Given the description of an element on the screen output the (x, y) to click on. 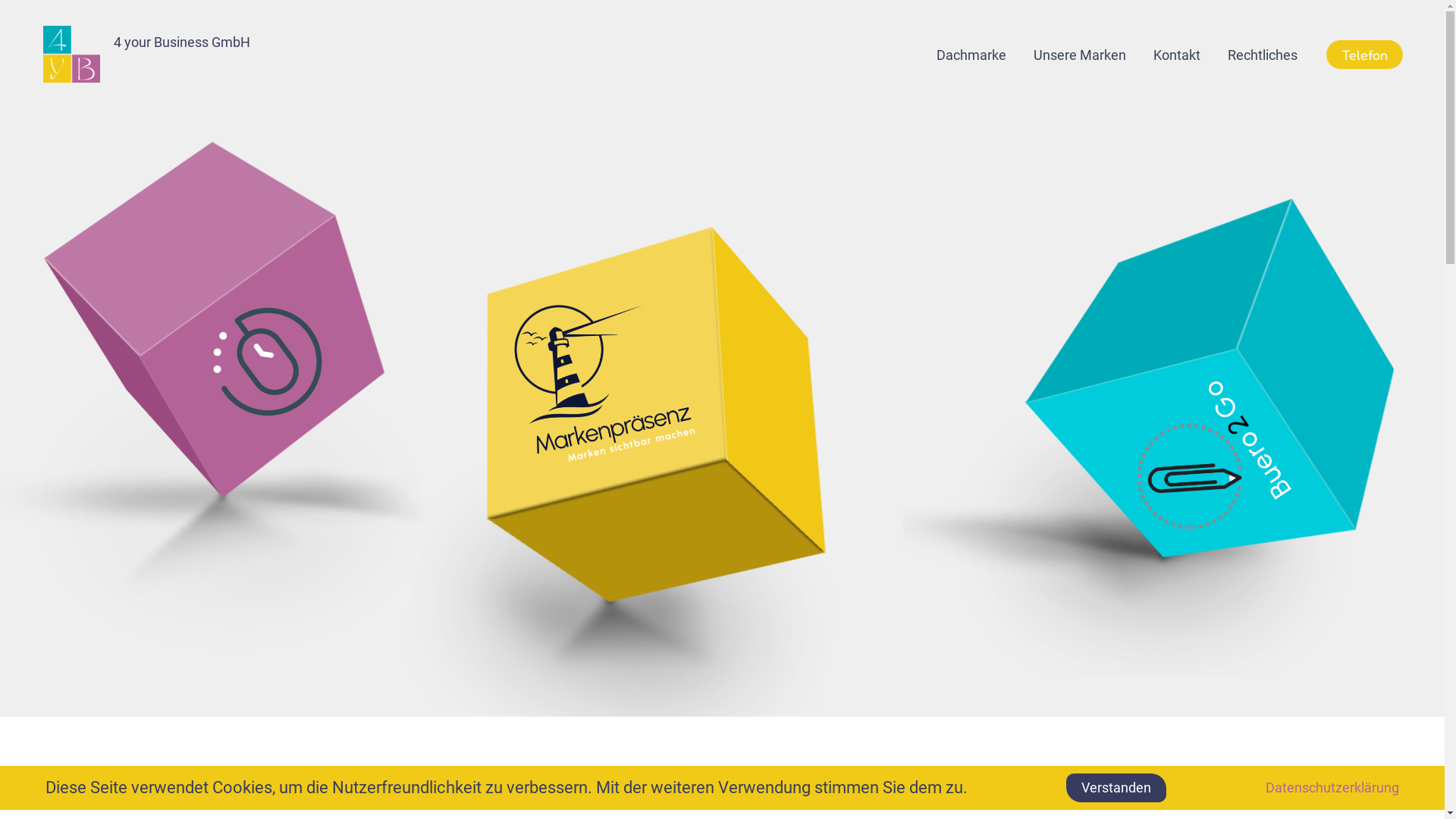
Unsere Marken Element type: text (1079, 54)
Kontakt Element type: text (1176, 54)
Telefon Element type: text (1364, 54)
Verstanden Element type: text (1116, 787)
Rechtliches Element type: text (1262, 54)
Dachmarke Element type: text (970, 54)
